Given the description of an element on the screen output the (x, y) to click on. 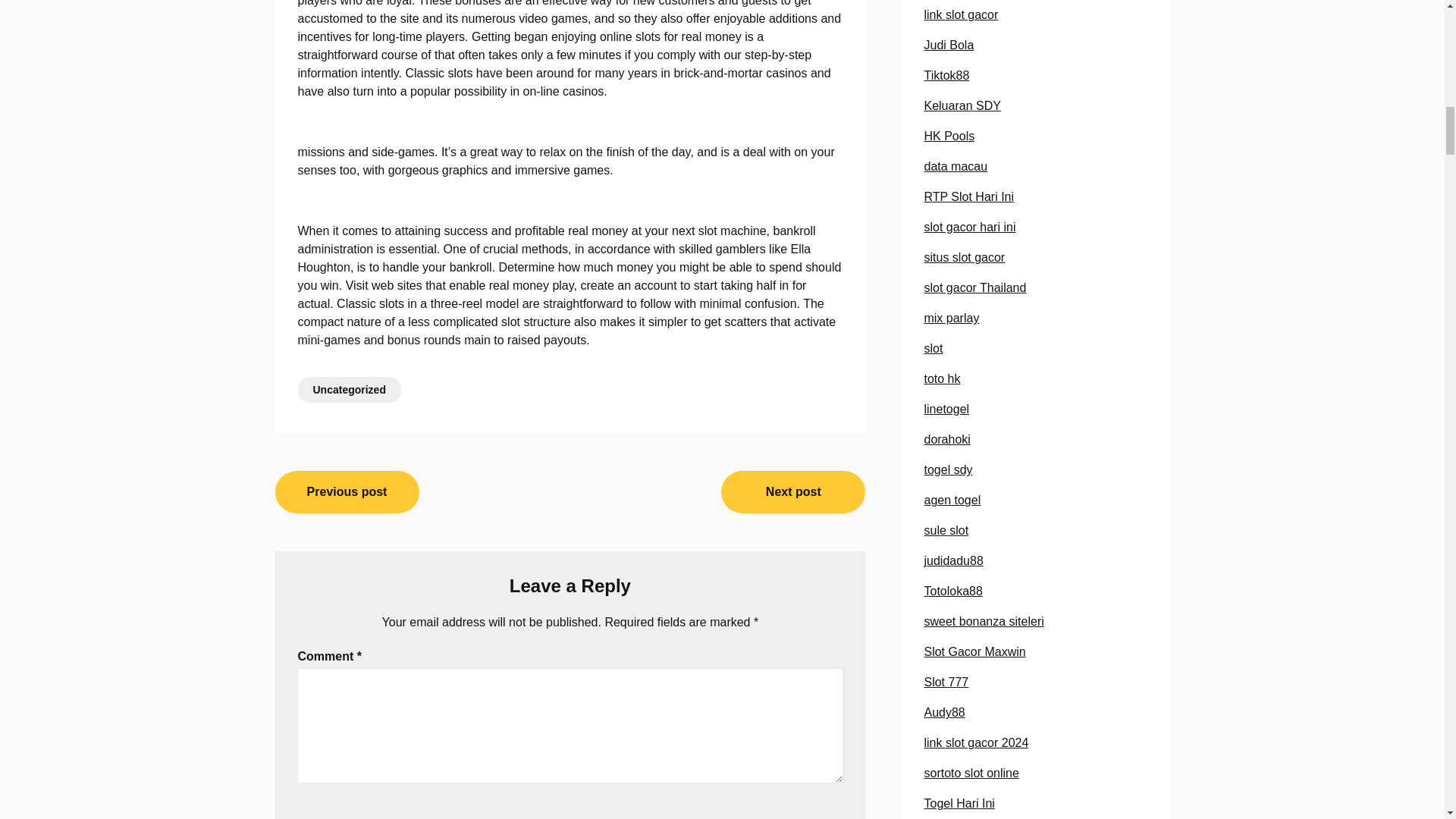
Next post (792, 491)
Uncategorized (348, 389)
Previous post (347, 491)
